Given the description of an element on the screen output the (x, y) to click on. 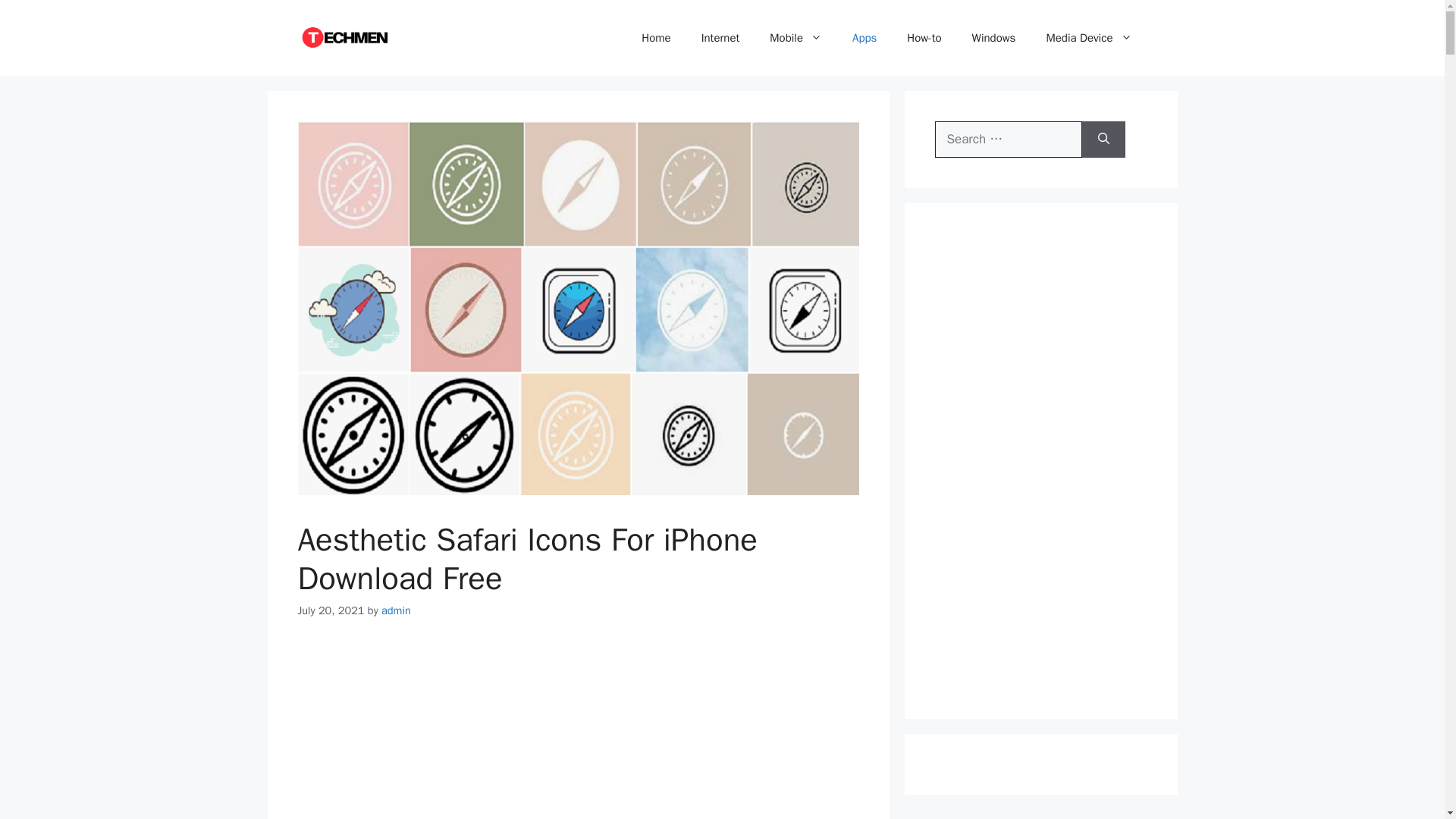
admin (395, 610)
Advertisement (578, 732)
Mobile (795, 37)
Media Device (1088, 37)
Internet (720, 37)
Apps (864, 37)
Windows (993, 37)
How-to (923, 37)
Search for: (1007, 139)
View all posts by admin (395, 610)
Home (655, 37)
